Given the description of an element on the screen output the (x, y) to click on. 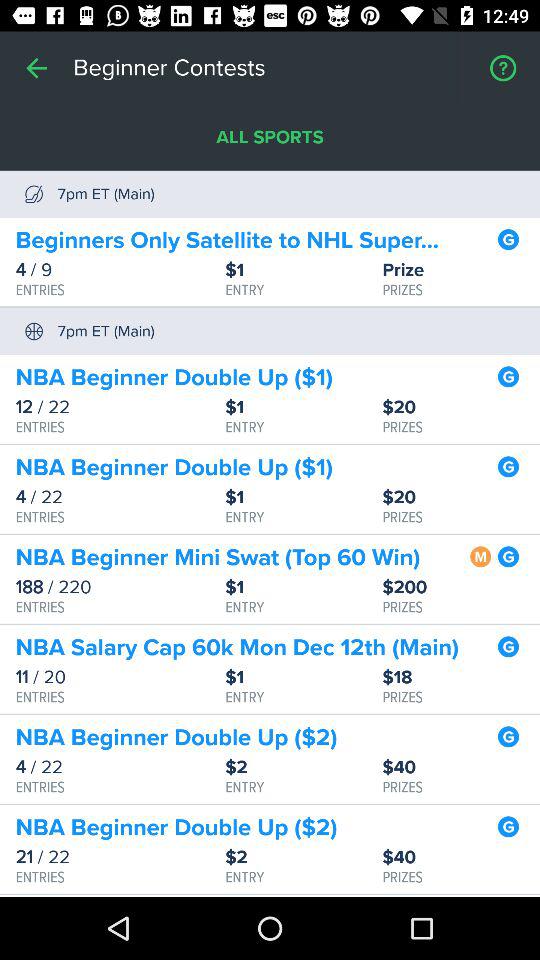
swipe to the prize icon (461, 270)
